Given the description of an element on the screen output the (x, y) to click on. 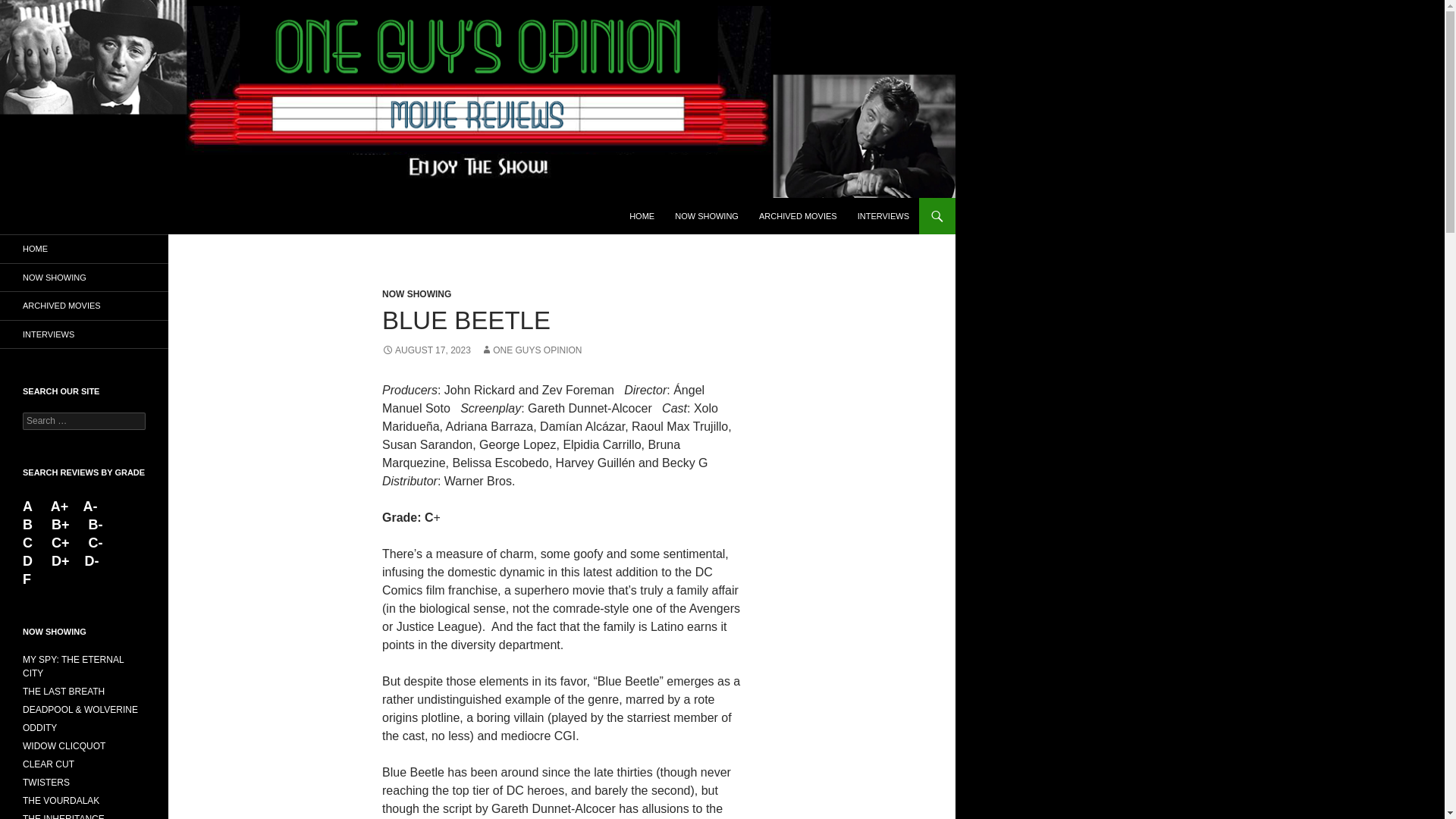
HOME (84, 248)
INTERVIEWS (84, 334)
NOW SHOWING (416, 294)
Search (30, 8)
ONE GUYS OPINION (530, 349)
CLEAR CUT (48, 764)
A- (89, 506)
THE LAST BREATH (63, 691)
ARCHIVED MOVIES (84, 305)
B (29, 524)
ODDITY (39, 727)
HOME (641, 216)
ARCHIVED MOVIES (797, 216)
WIDOW CLICQUOT (63, 746)
NOW SHOWING (706, 216)
